Given the description of an element on the screen output the (x, y) to click on. 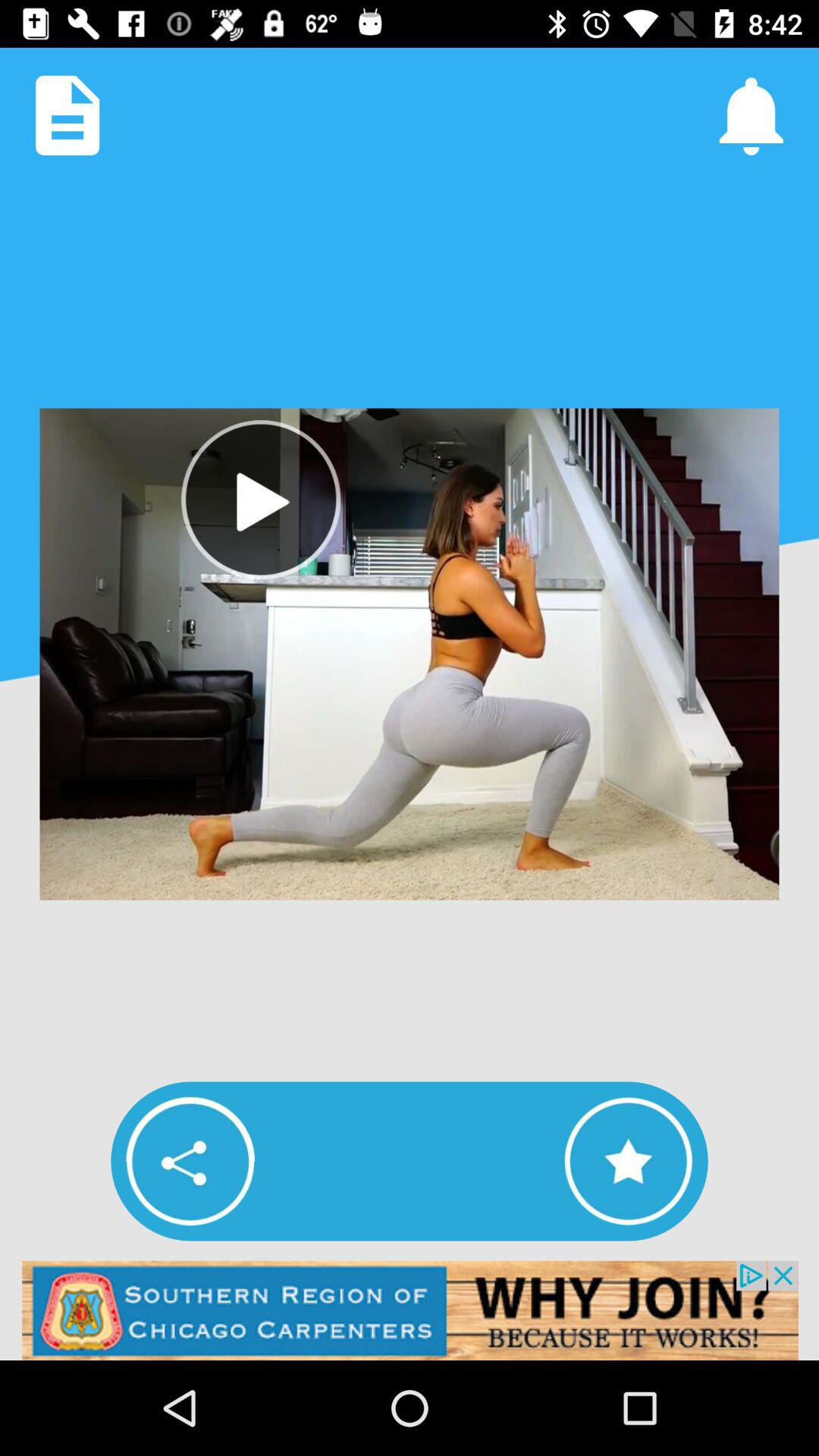
add video to favorites (628, 1161)
